Given the description of an element on the screen output the (x, y) to click on. 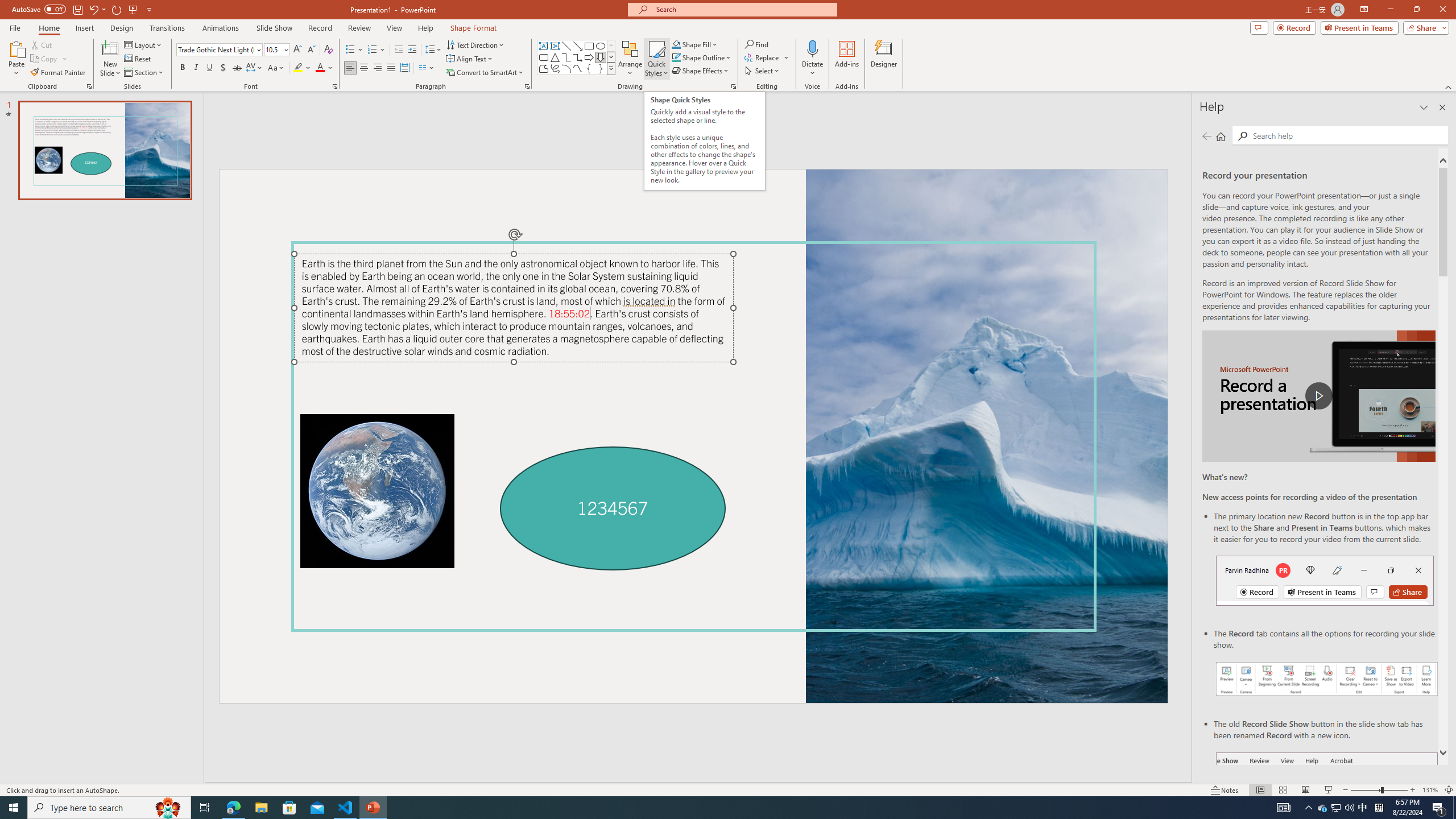
Strikethrough (237, 67)
Shape Effects (700, 69)
Zoom 131% (1430, 790)
Font Color Red (320, 67)
